Given the description of an element on the screen output the (x, y) to click on. 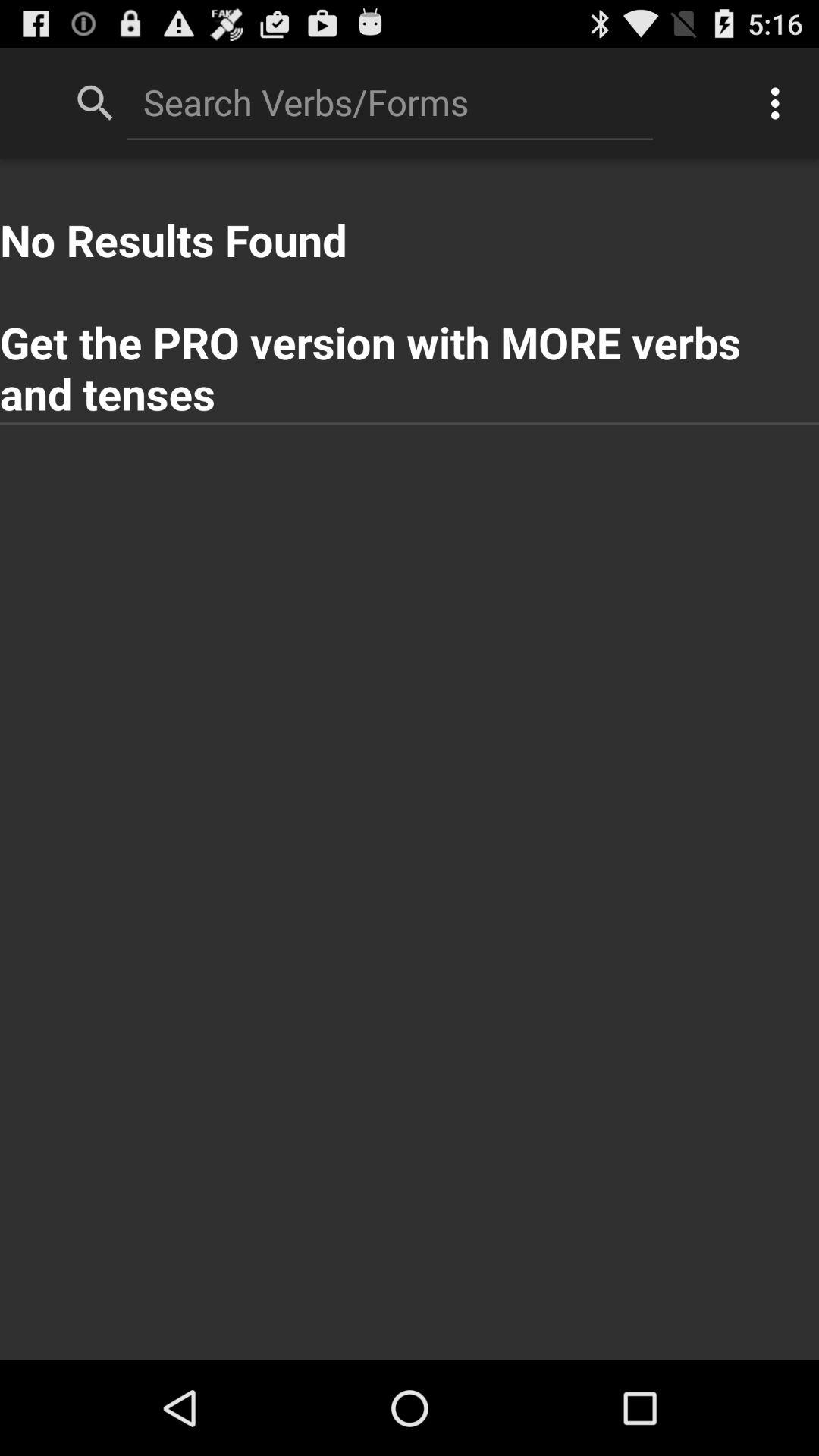
click app above no results found icon (779, 103)
